Given the description of an element on the screen output the (x, y) to click on. 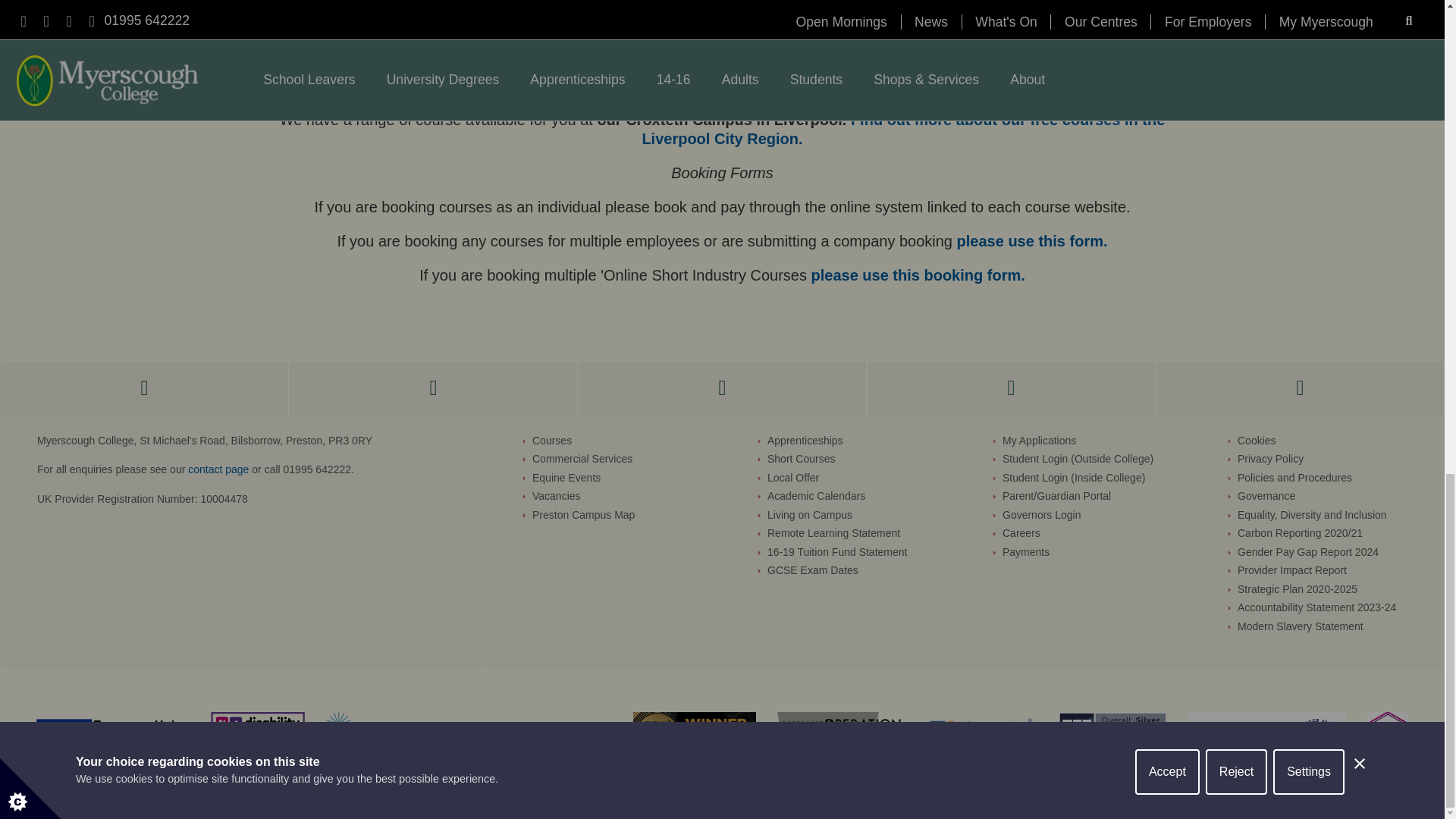
Get in touch (217, 469)
Business Booking Form (1032, 240)
Liverpool City Region Courses (903, 129)
